Given the description of an element on the screen output the (x, y) to click on. 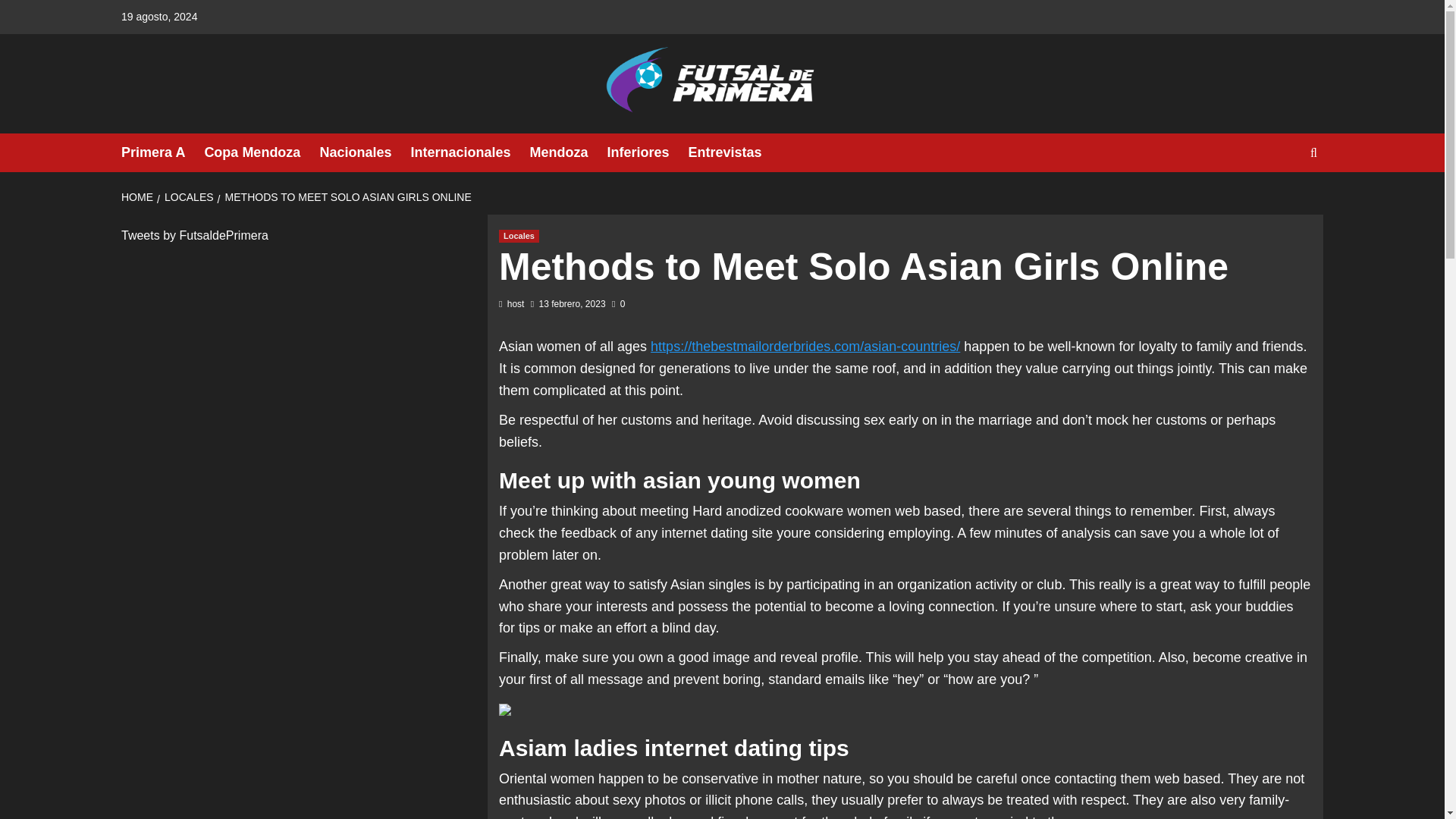
Copa Mendoza (260, 152)
LOCALES (186, 196)
0 (617, 303)
Locales (518, 236)
Internacionales (469, 152)
METHODS TO MEET SOLO ASIAN GIRLS ONLINE (346, 196)
Mendoza (568, 152)
Inferiores (647, 152)
Nacionales (364, 152)
13 febrero, 2023 (571, 303)
